Given the description of an element on the screen output the (x, y) to click on. 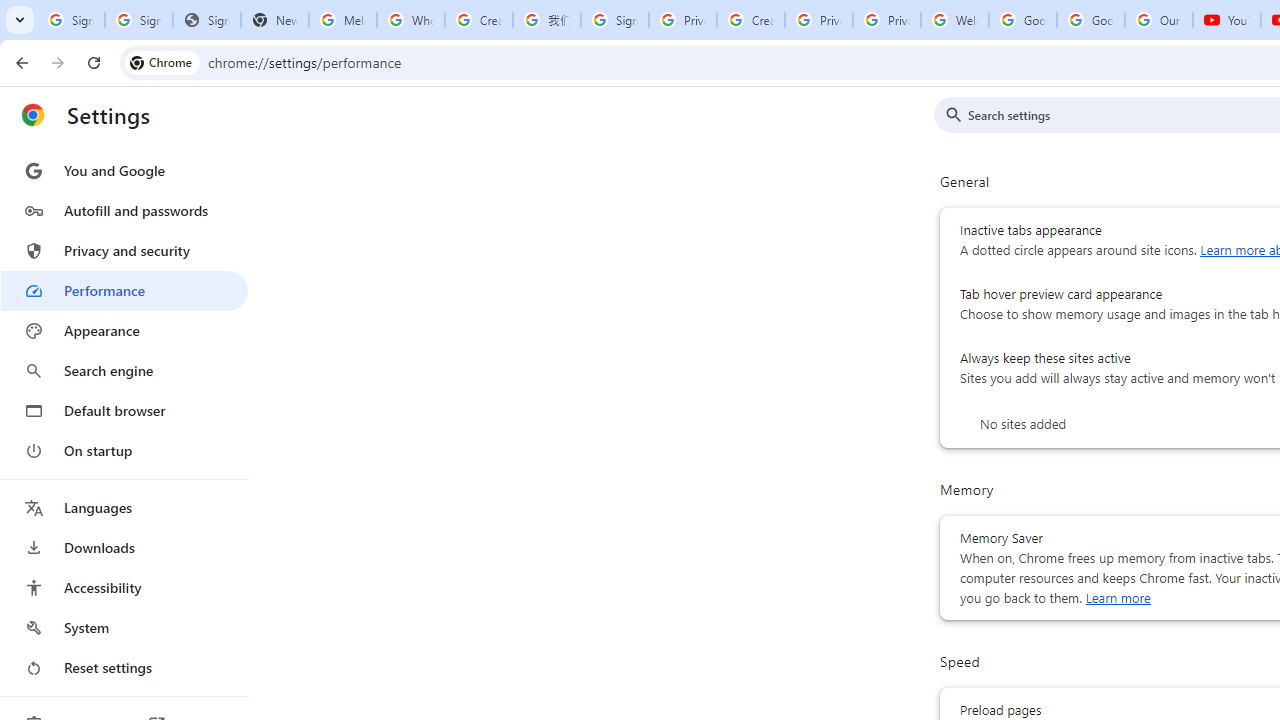
YouTube (1226, 20)
Create your Google Account (750, 20)
Welcome to My Activity (954, 20)
Accessibility (124, 587)
On startup (124, 450)
Reset settings (124, 668)
Search engine (124, 370)
New Tab (274, 20)
Downloads (124, 547)
You and Google (124, 170)
